Given the description of an element on the screen output the (x, y) to click on. 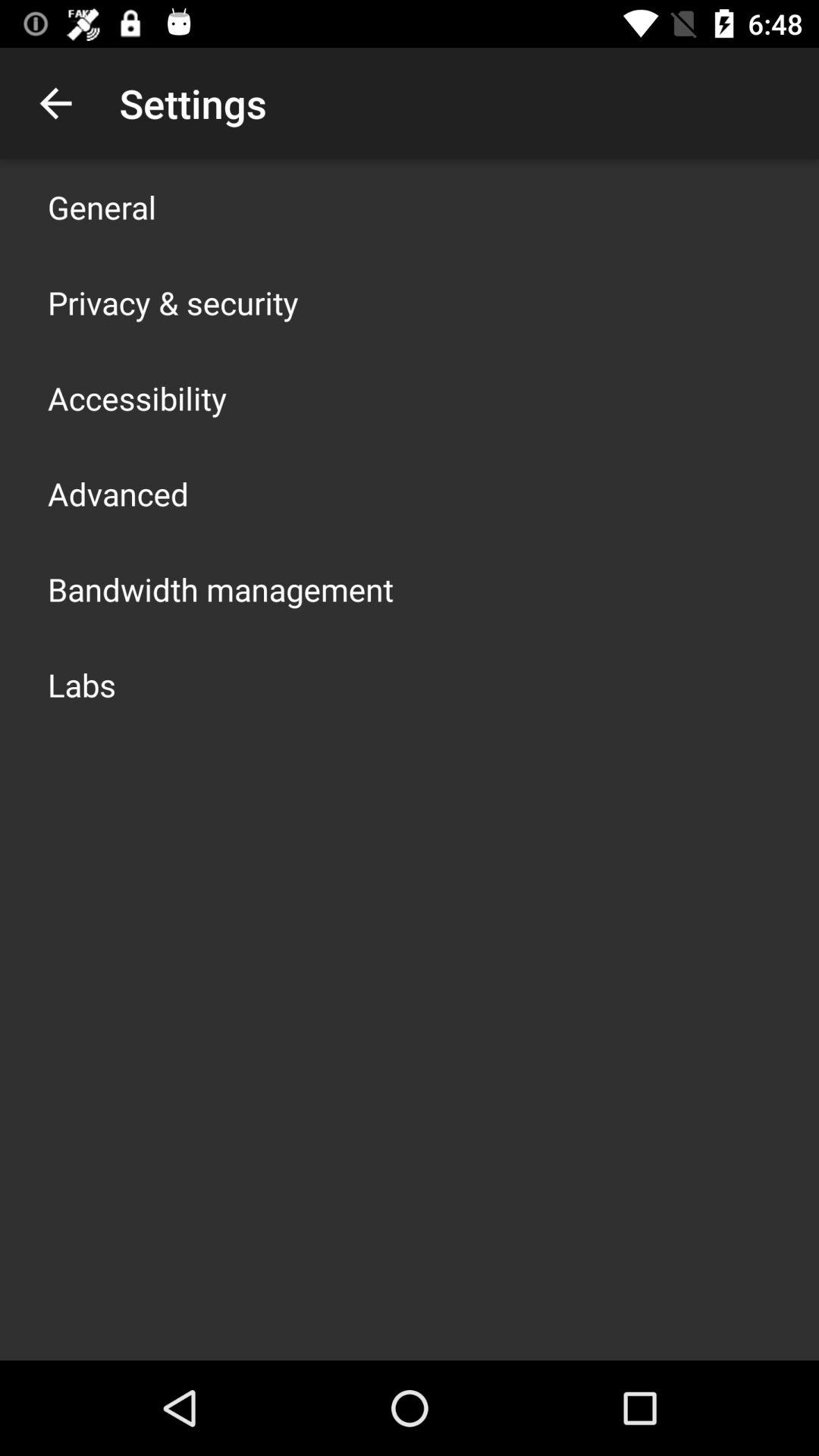
flip to bandwidth management (220, 588)
